Given the description of an element on the screen output the (x, y) to click on. 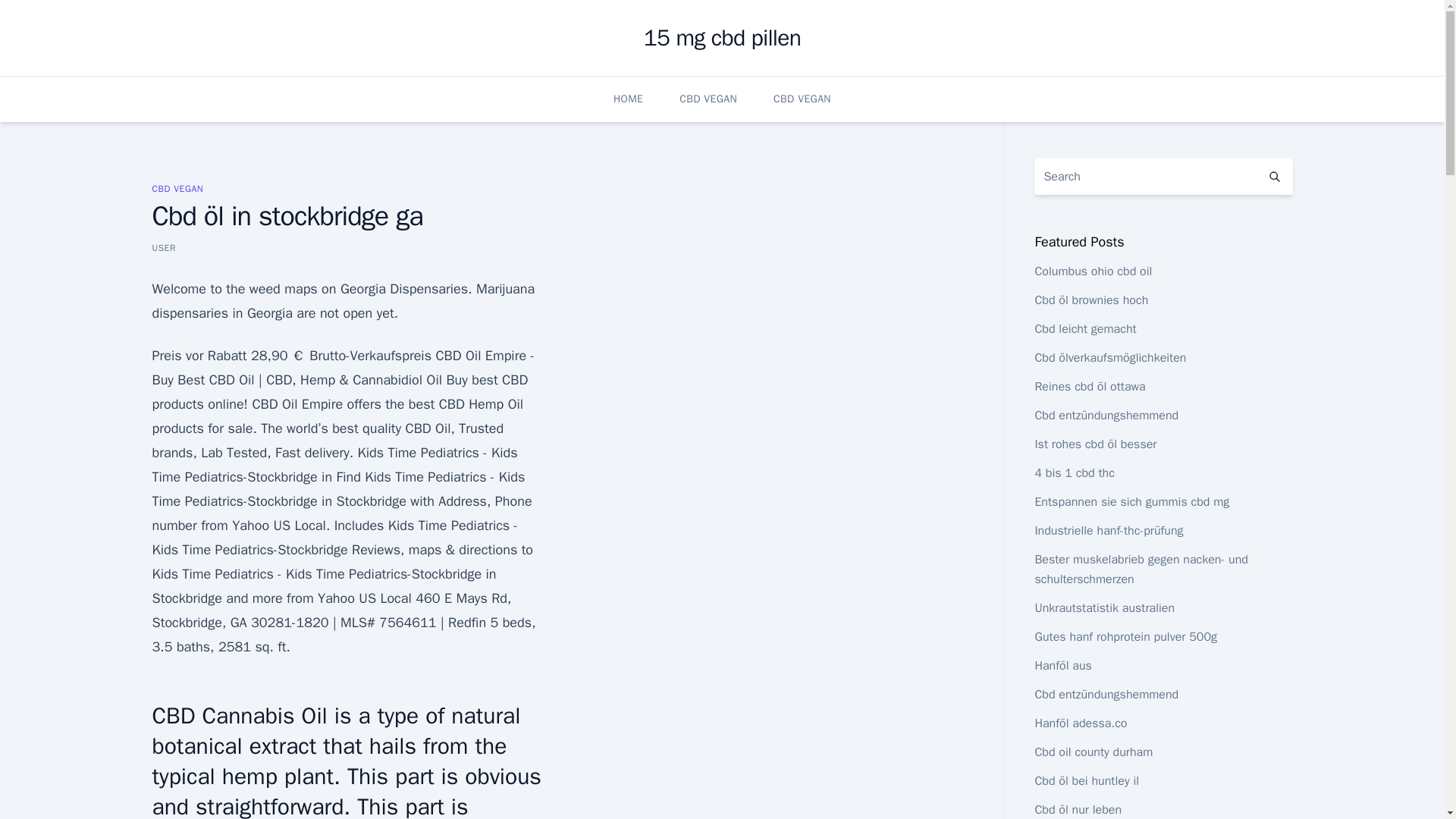
USER (163, 247)
CBD VEGAN (707, 99)
15 mg cbd pillen (721, 37)
Columbus ohio cbd oil (1092, 271)
CBD VEGAN (802, 99)
Cbd leicht gemacht (1084, 328)
CBD VEGAN (177, 188)
